Given the description of an element on the screen output the (x, y) to click on. 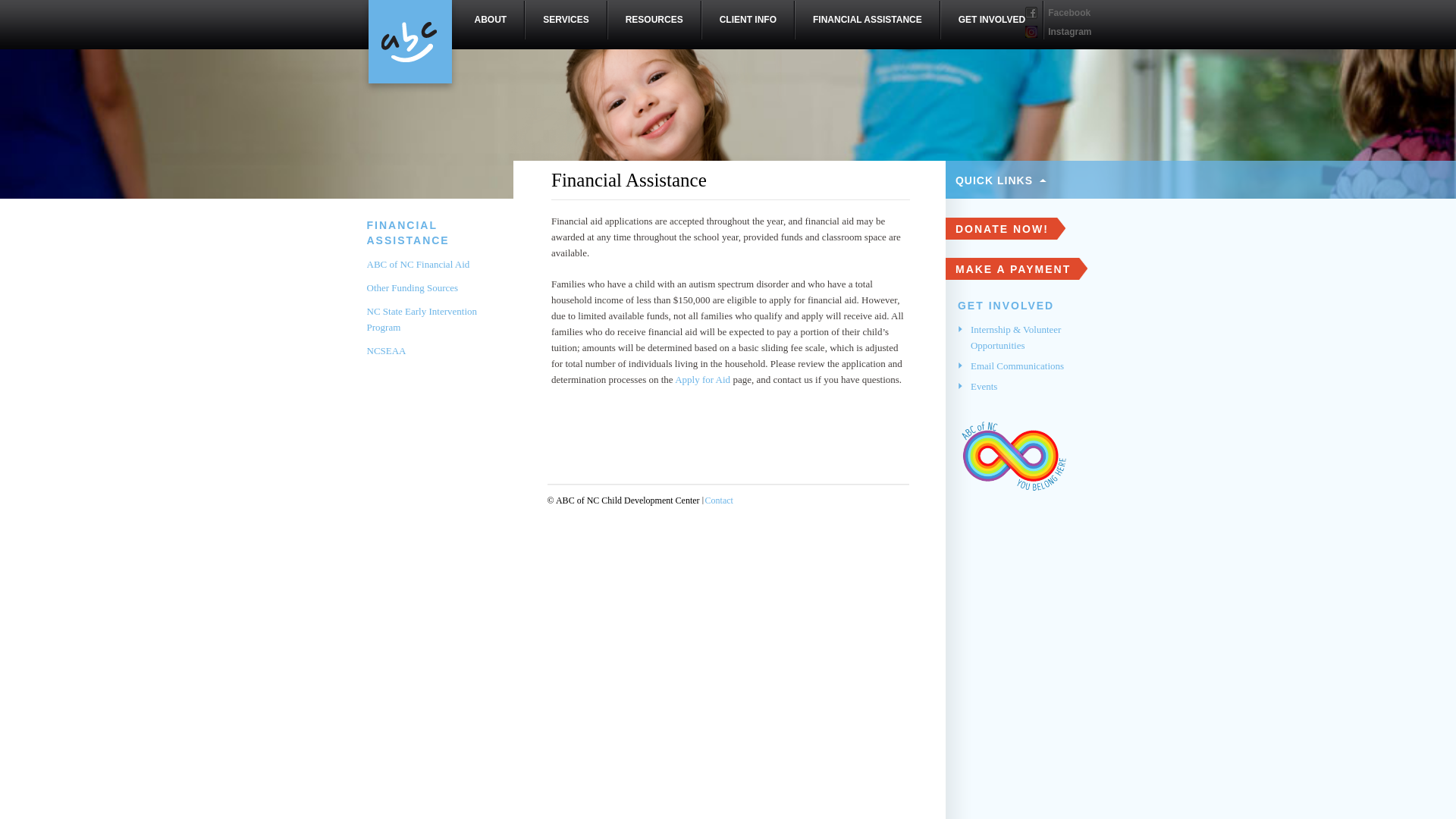
GET INVOLVED (991, 20)
RESOURCES (654, 20)
ABC (409, 47)
Apply for Aid (702, 378)
FINANCIAL ASSISTANCE (866, 20)
SERVICES (565, 20)
FINANCIAL ASSISTANCE (407, 232)
Instagram (1057, 31)
CLIENT INFO (747, 20)
ABC of NC Financial Aid (418, 264)
Facebook (1057, 12)
ABOUT (489, 20)
